Given the description of an element on the screen output the (x, y) to click on. 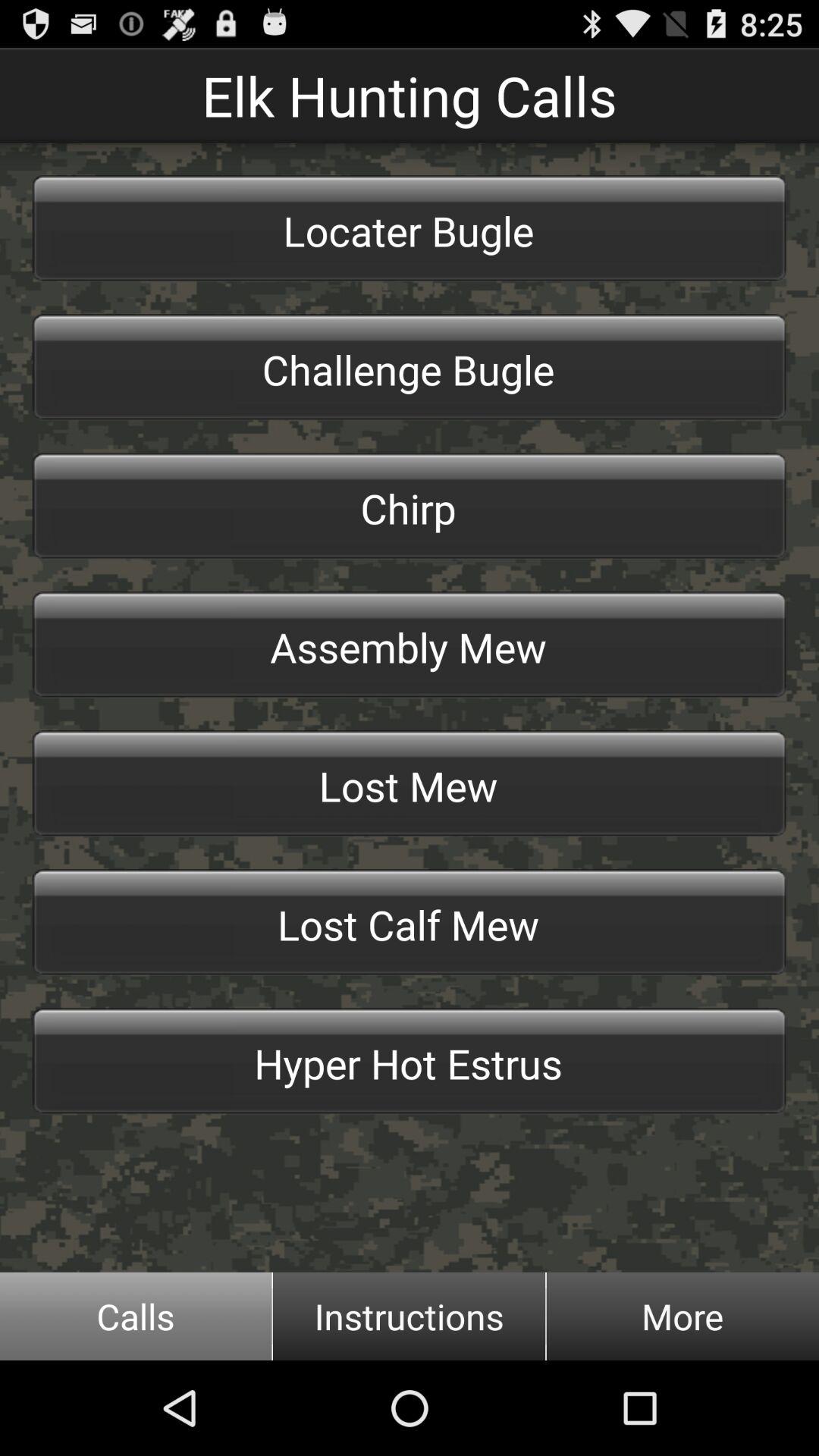
select hyper hot estrus item (409, 1060)
